Given the description of an element on the screen output the (x, y) to click on. 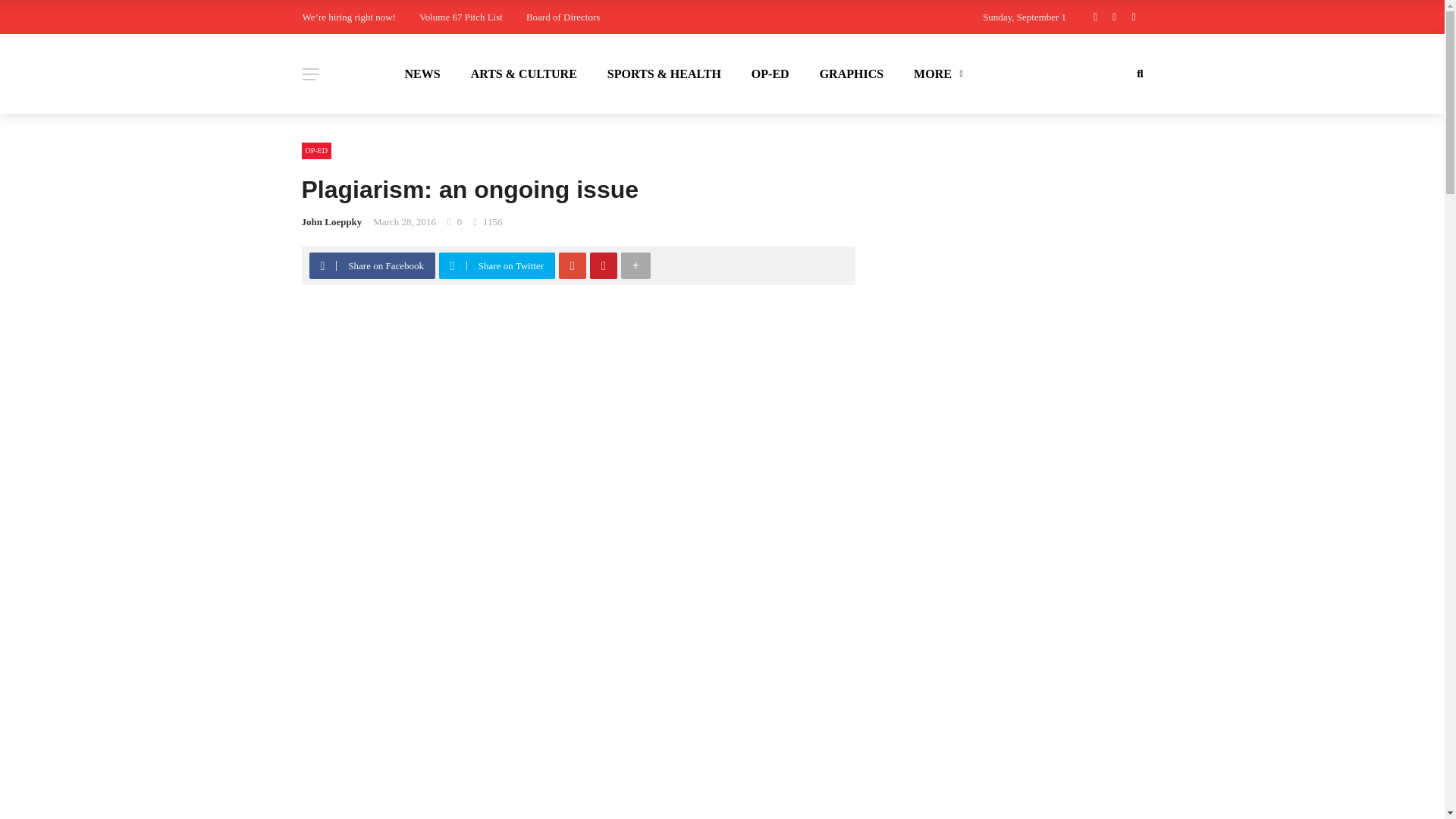
Volume 67 Pitch List (460, 16)
Board of Directors (562, 16)
MORE (936, 73)
GRAPHICS (851, 73)
